Given the description of an element on the screen output the (x, y) to click on. 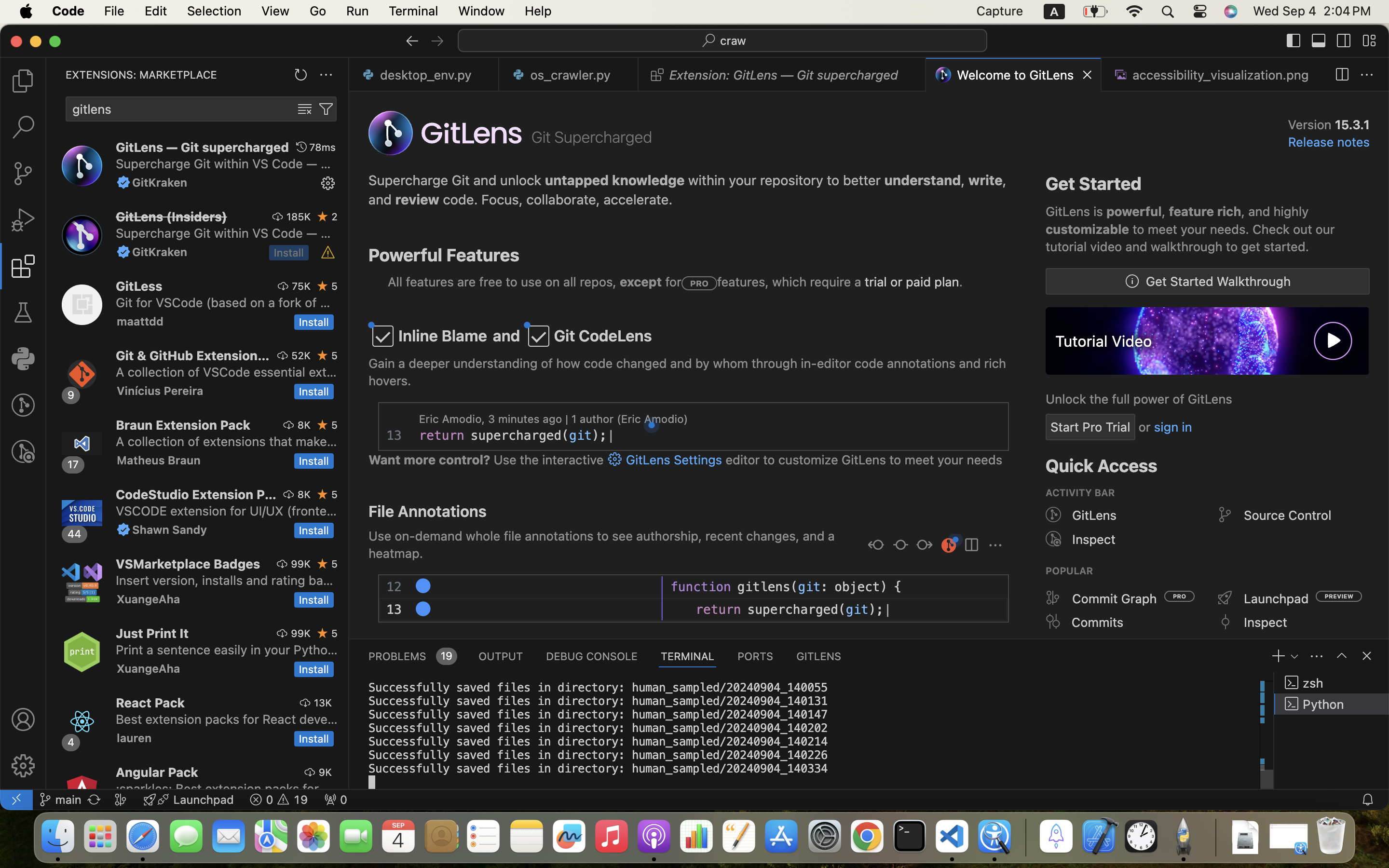
Insert version, installs and rating badges for VSMarketplace extensions easily to your HTML or Markdown pages. Element type: AXStaticText (224, 579)
except Element type: AXStaticText (641, 281)
GitLens Element type: AXStaticText (1094, 515)
GitLens Settings Element type: AXStaticText (672, 459)
Supercharge Git within VS Code — Visualize code authorship at a glance via Git blame annotations and CodeLens, seamlessly navigate and explore Git repositories, gain valuable insights via rich visualizations and powerful comparison commands, and so much more Element type: AXStaticText (222, 163)
